Given the description of an element on the screen output the (x, y) to click on. 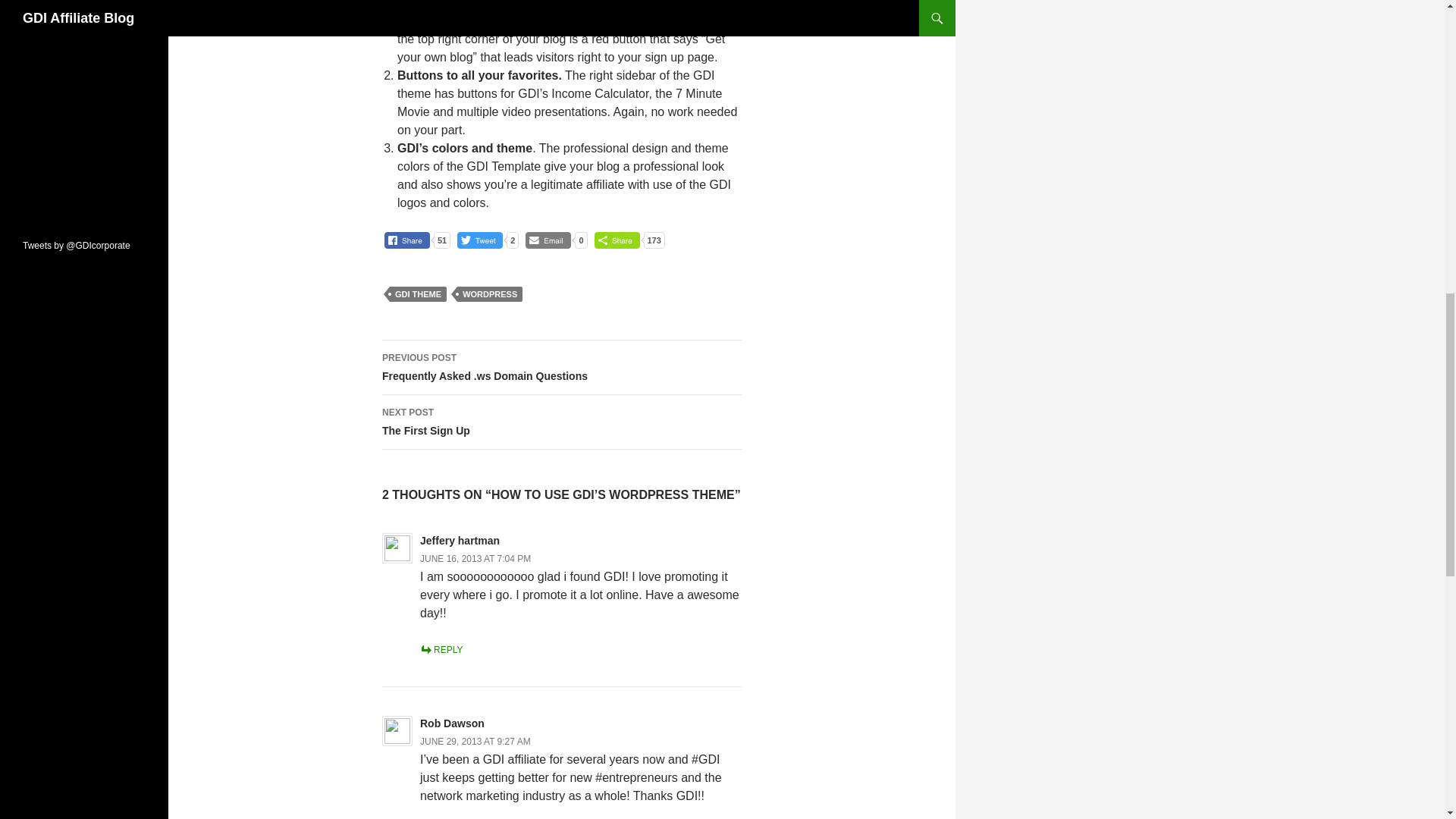
JUNE 16, 2013 AT 7:04 PM (475, 558)
GDI THEME (418, 294)
WORDPRESS (561, 421)
Jeffery hartman (489, 294)
REPLY (459, 540)
Rob Dawson (441, 649)
JUNE 29, 2013 AT 9:27 AM (561, 367)
